Given the description of an element on the screen output the (x, y) to click on. 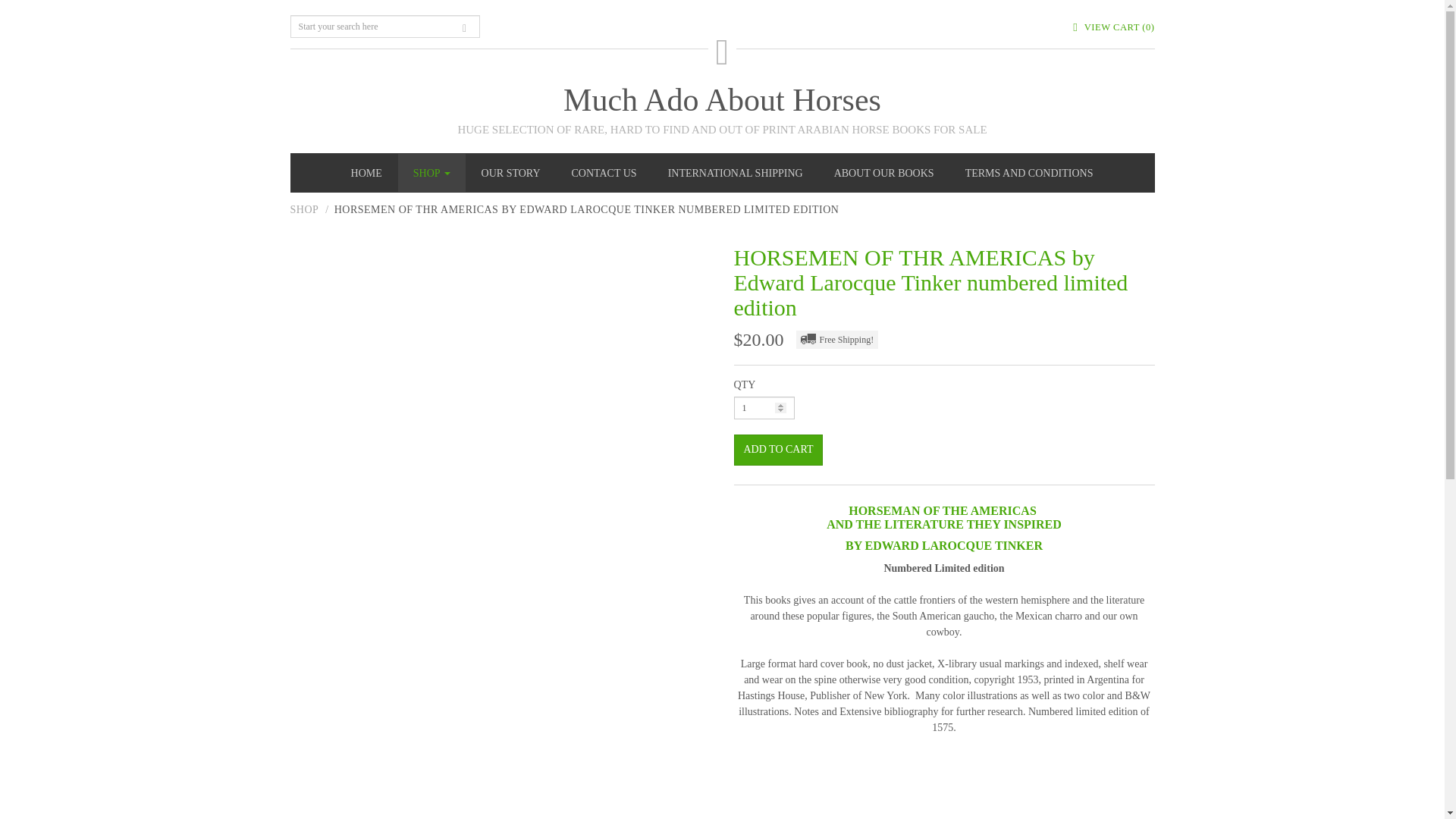
Much Ado About Horses (721, 100)
SHOP (303, 209)
SHOP (431, 172)
Add to Cart (778, 449)
OUR STORY (510, 172)
Add to Cart (778, 449)
HOME (366, 172)
1 (763, 407)
TERMS AND CONDITIONS (1029, 172)
CONTACT US (604, 172)
